Given the description of an element on the screen output the (x, y) to click on. 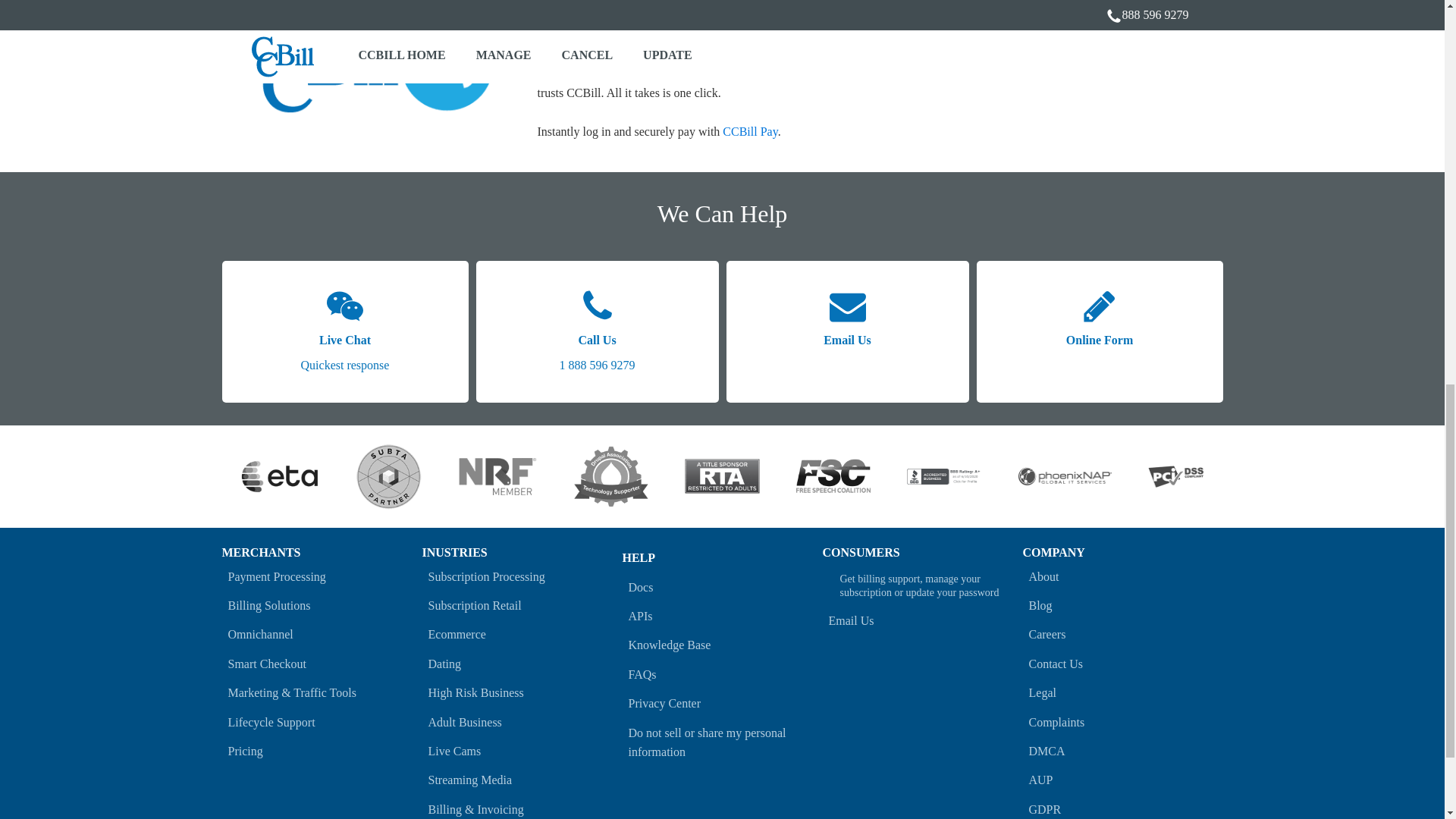
Smart Checkout (321, 663)
Omnichannel (321, 634)
Pricing (321, 751)
Email Us (847, 331)
Online Form (1099, 331)
MERCHANTS (260, 552)
Adult Business (344, 331)
Payment Processing (521, 721)
INUSTRIES (321, 575)
